Given the description of an element on the screen output the (x, y) to click on. 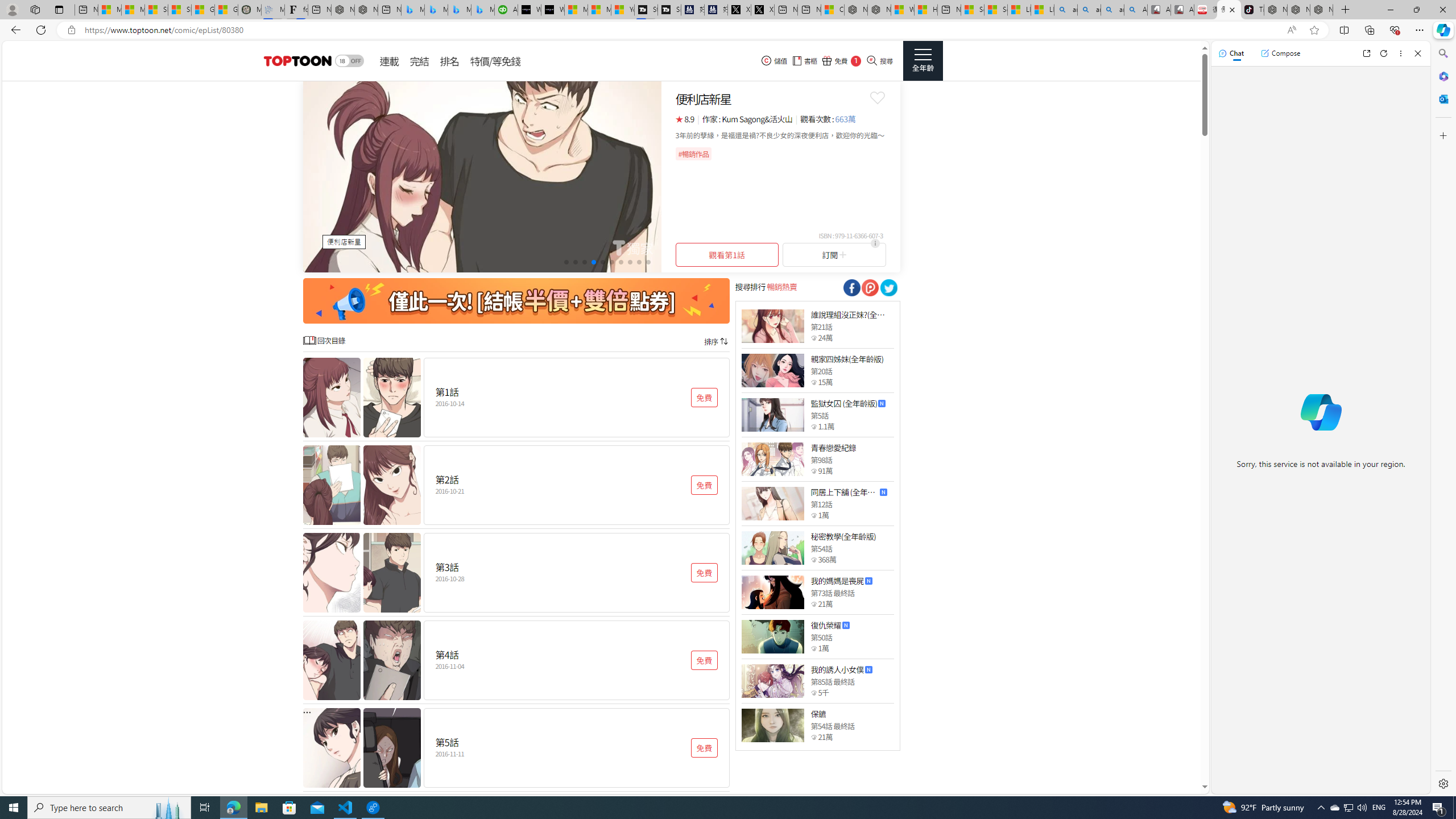
Settings and more (Alt+F) (1419, 29)
Go to slide 3 (584, 261)
header (295, 60)
Gilma and Hector both pose tropical trouble for Hawaii (226, 9)
Class: swiper-slide swiper-slide-next (481, 176)
Address and search bar (680, 29)
Side bar (1443, 418)
Chat (1231, 52)
